Given the description of an element on the screen output the (x, y) to click on. 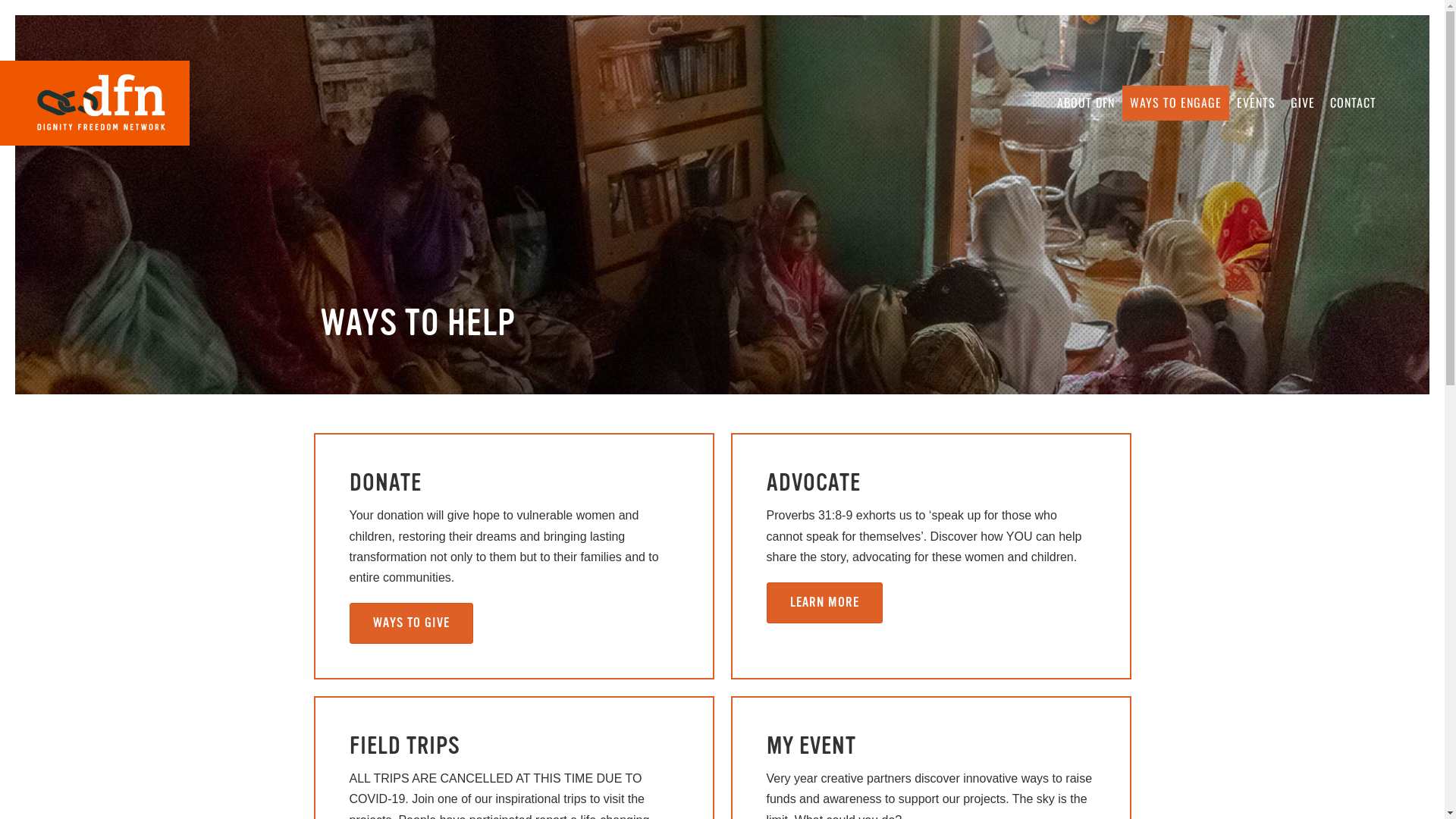
ABOUT DFN Element type: text (1085, 102)
WAYS TO GIVE Element type: text (410, 622)
GIVE Element type: text (1302, 102)
WAYS TO ENGAGE Element type: text (1175, 102)
LEARN MORE Element type: text (823, 602)
CONTACT Element type: text (1352, 102)
EVENTS Element type: text (1256, 102)
DFN-Logo-Header Element type: hover (94, 102)
